Given the description of an element on the screen output the (x, y) to click on. 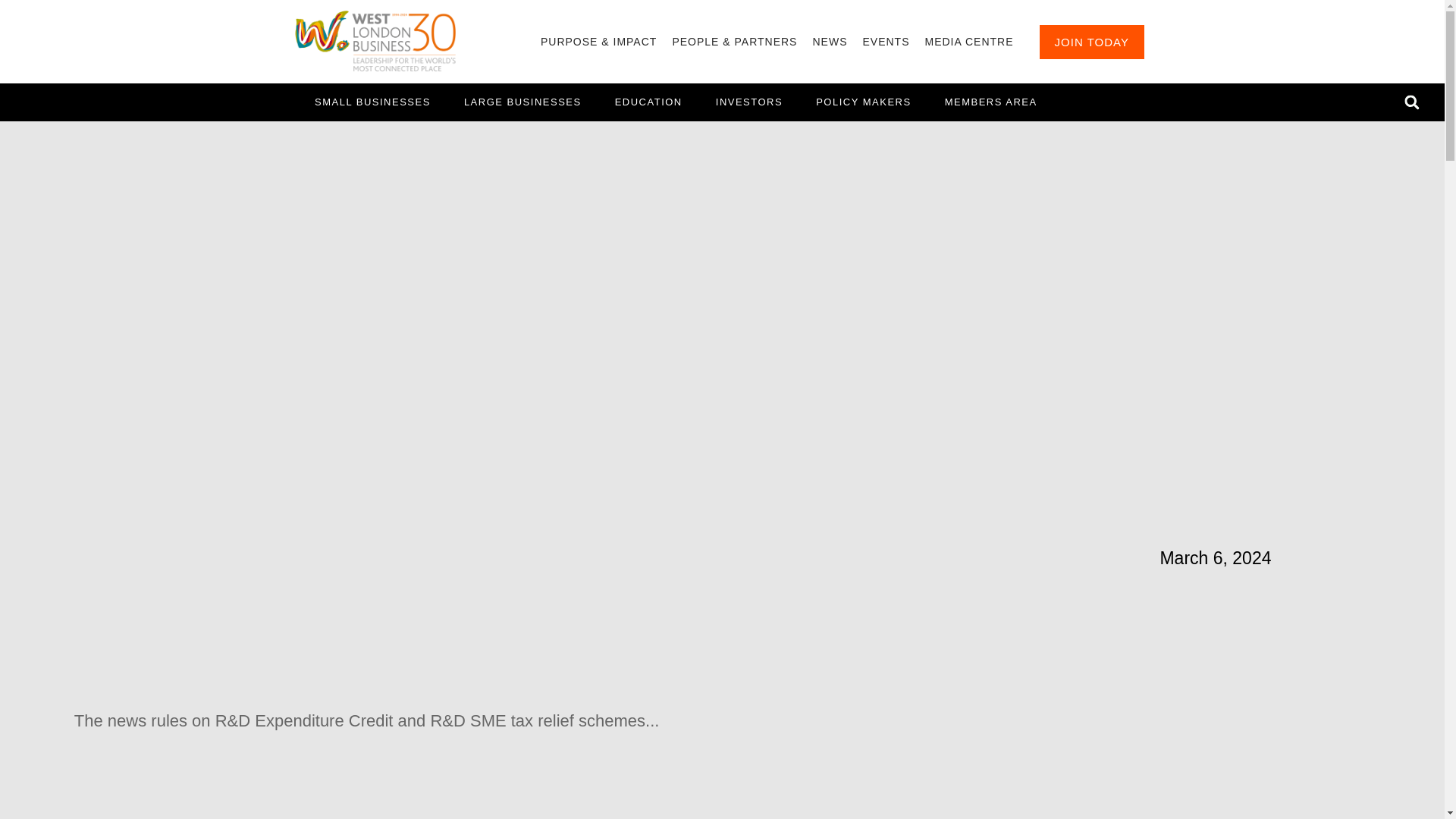
JOIN TODAY (1091, 41)
EDUCATION (648, 102)
POLICY MAKERS (863, 102)
EVENTS (885, 41)
INVESTORS (748, 102)
MEDIA CENTRE (968, 41)
LARGE BUSINESSES (522, 102)
MEMBERS AREA (991, 102)
SMALL BUSINESSES (372, 102)
NEWS (829, 41)
